Given the description of an element on the screen output the (x, y) to click on. 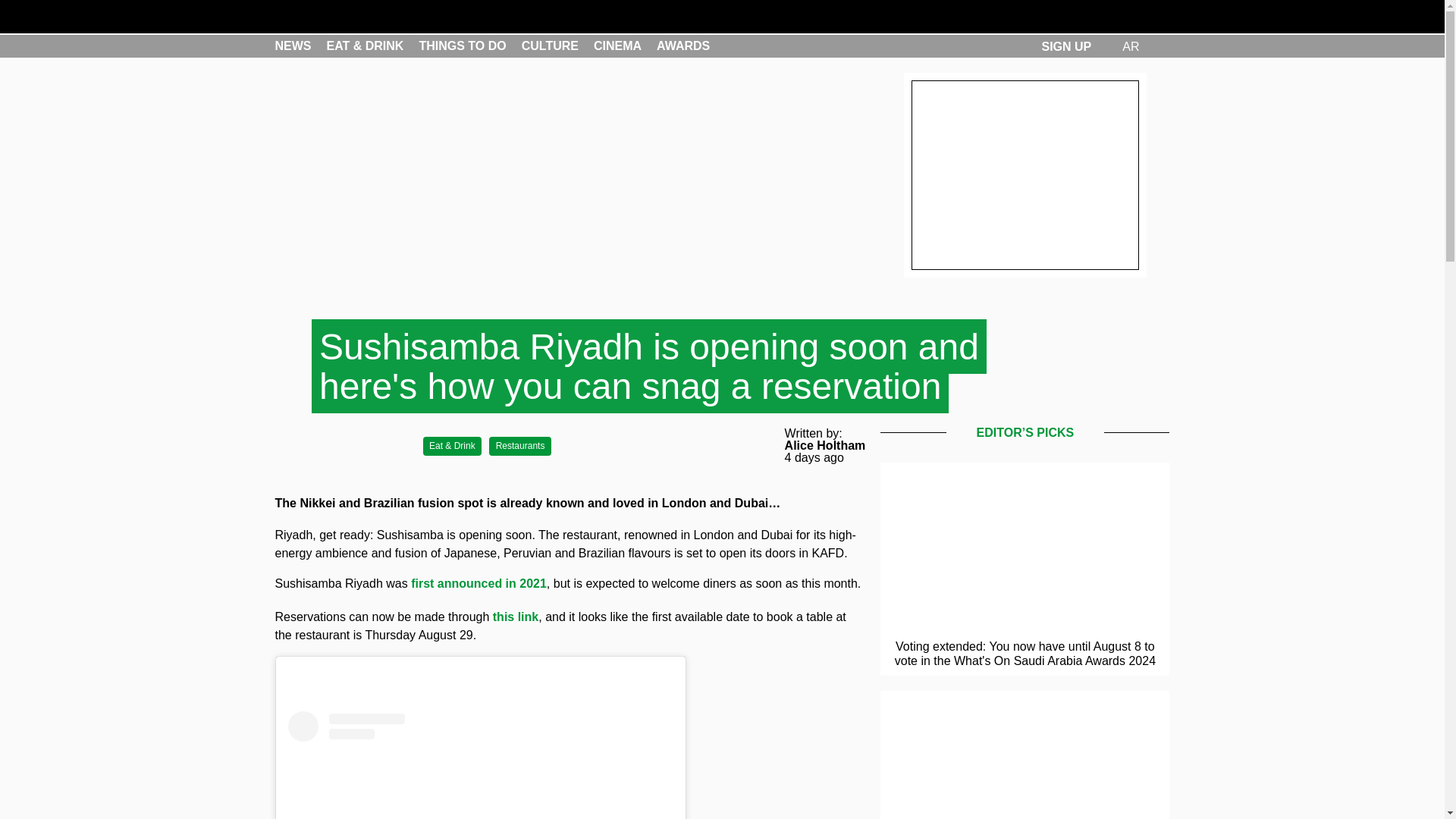
THINGS TO DO (462, 45)
SIGN UP (1065, 45)
NEWS (293, 45)
CINEMA (618, 45)
CULTURE (549, 45)
AWARDS (683, 45)
